Given the description of an element on the screen output the (x, y) to click on. 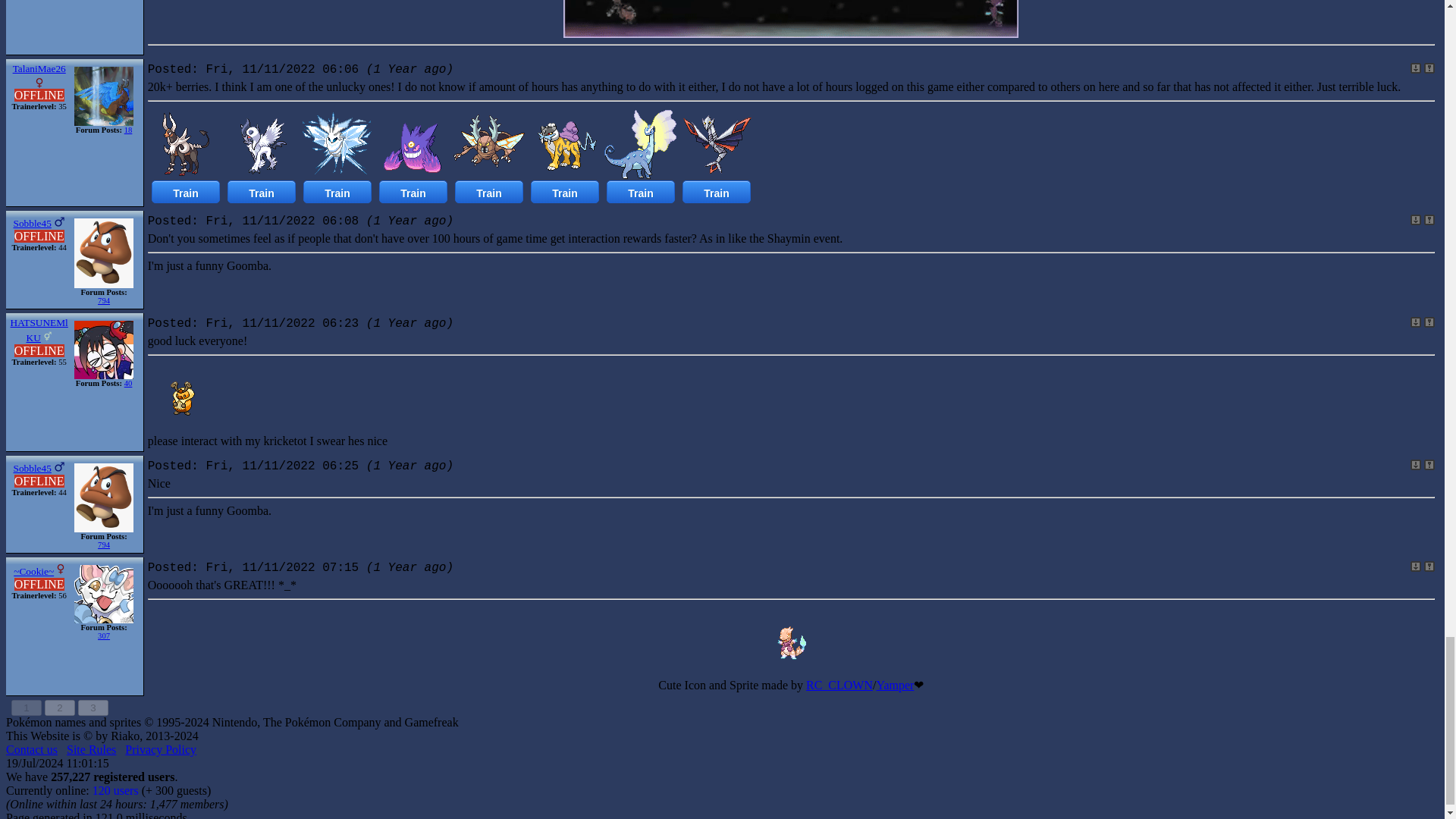
1 (26, 707)
3 (92, 707)
2 (60, 707)
